Given the description of an element on the screen output the (x, y) to click on. 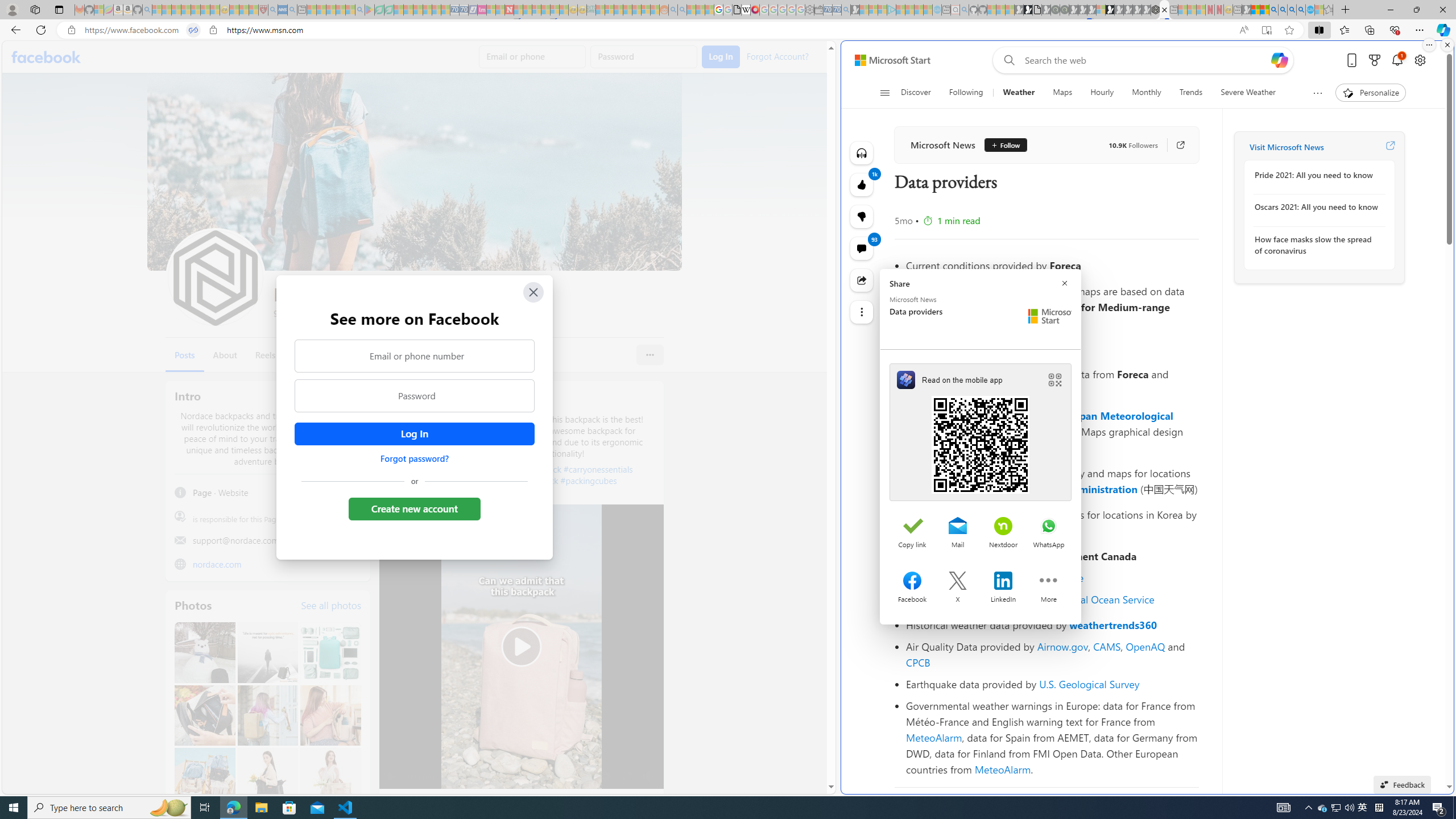
Email or phone number (414, 355)
Forgot password? (414, 458)
Share on whatsapp (1048, 526)
Share on X (957, 581)
Pride 2021: All you need to know (1316, 174)
Facebook (46, 56)
